Given the description of an element on the screen output the (x, y) to click on. 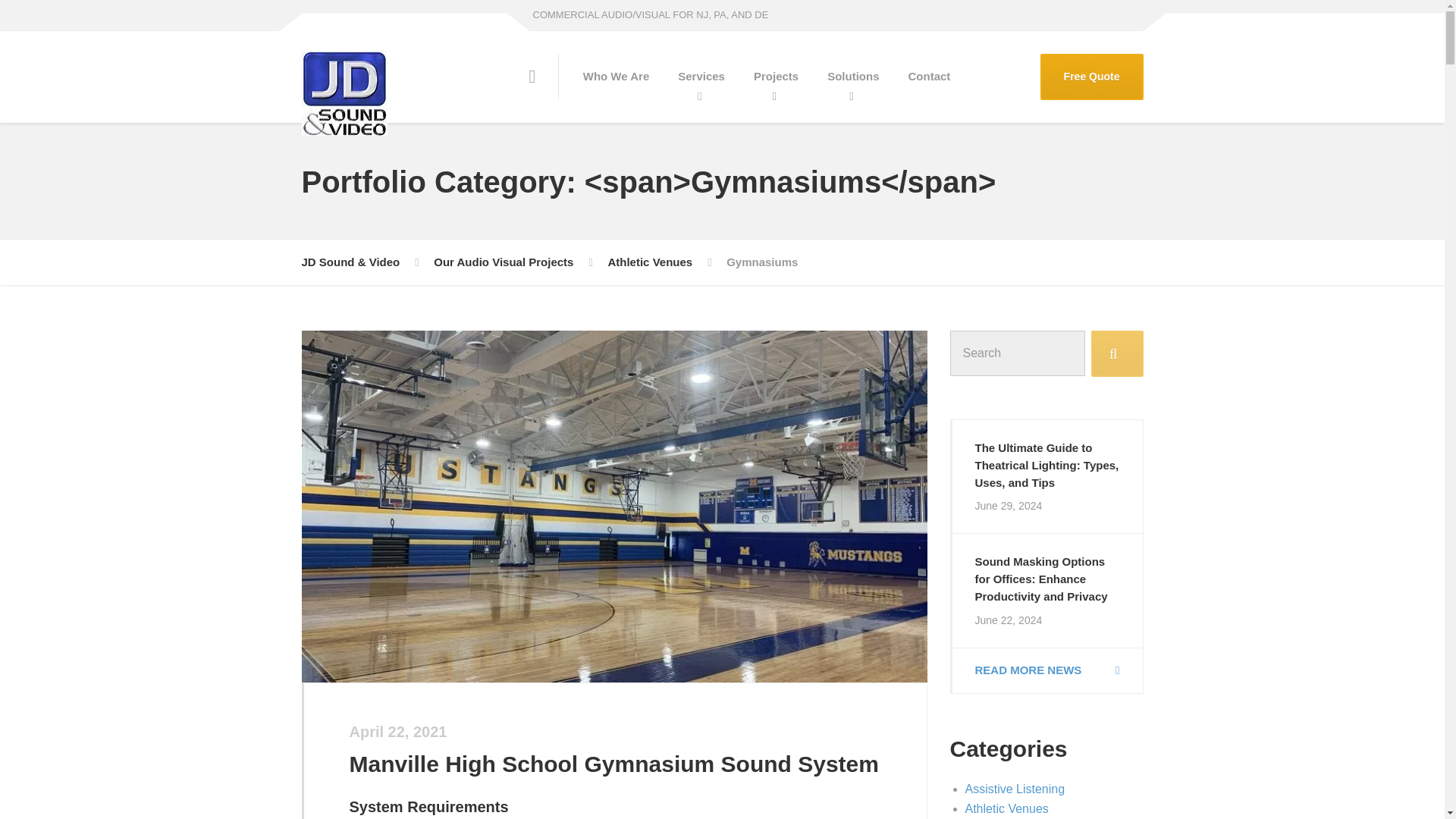
Who We Are (616, 76)
Free Quote (1091, 76)
Athletic Venues (650, 262)
Go to the Athletic Venues Portfolio Category archives. (650, 262)
Our Audio Visual Projects (503, 262)
Go to Our Audio Visual Projects. (503, 262)
Manville High School Gymnasium Sound System (613, 763)
